Given the description of an element on the screen output the (x, y) to click on. 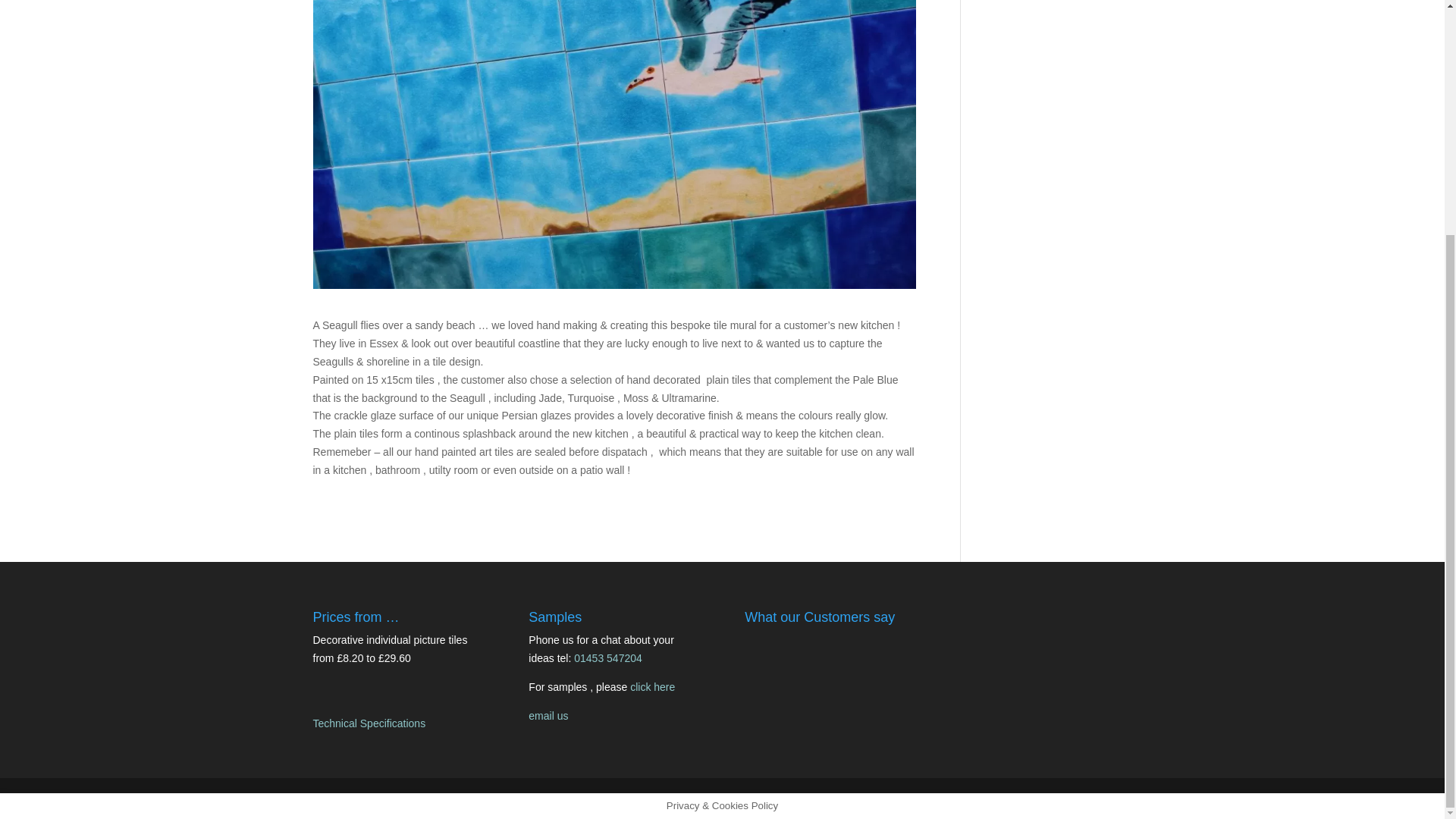
Technical Specifications (369, 723)
01453 547204 (607, 657)
click here (652, 686)
email us (547, 715)
